Given the description of an element on the screen output the (x, y) to click on. 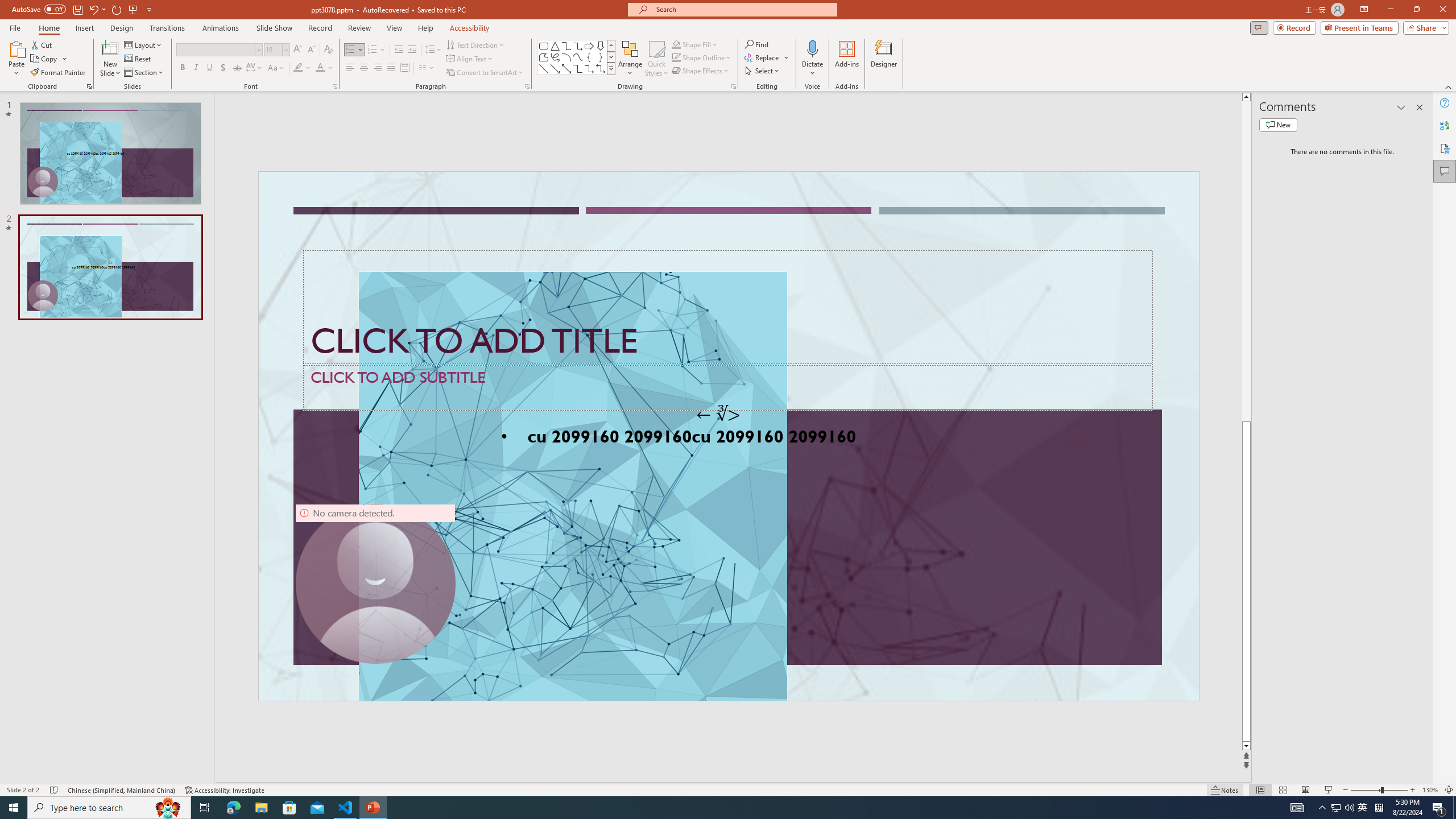
Shape Fill Dark Green, Accent 2 (675, 44)
